Given the description of an element on the screen output the (x, y) to click on. 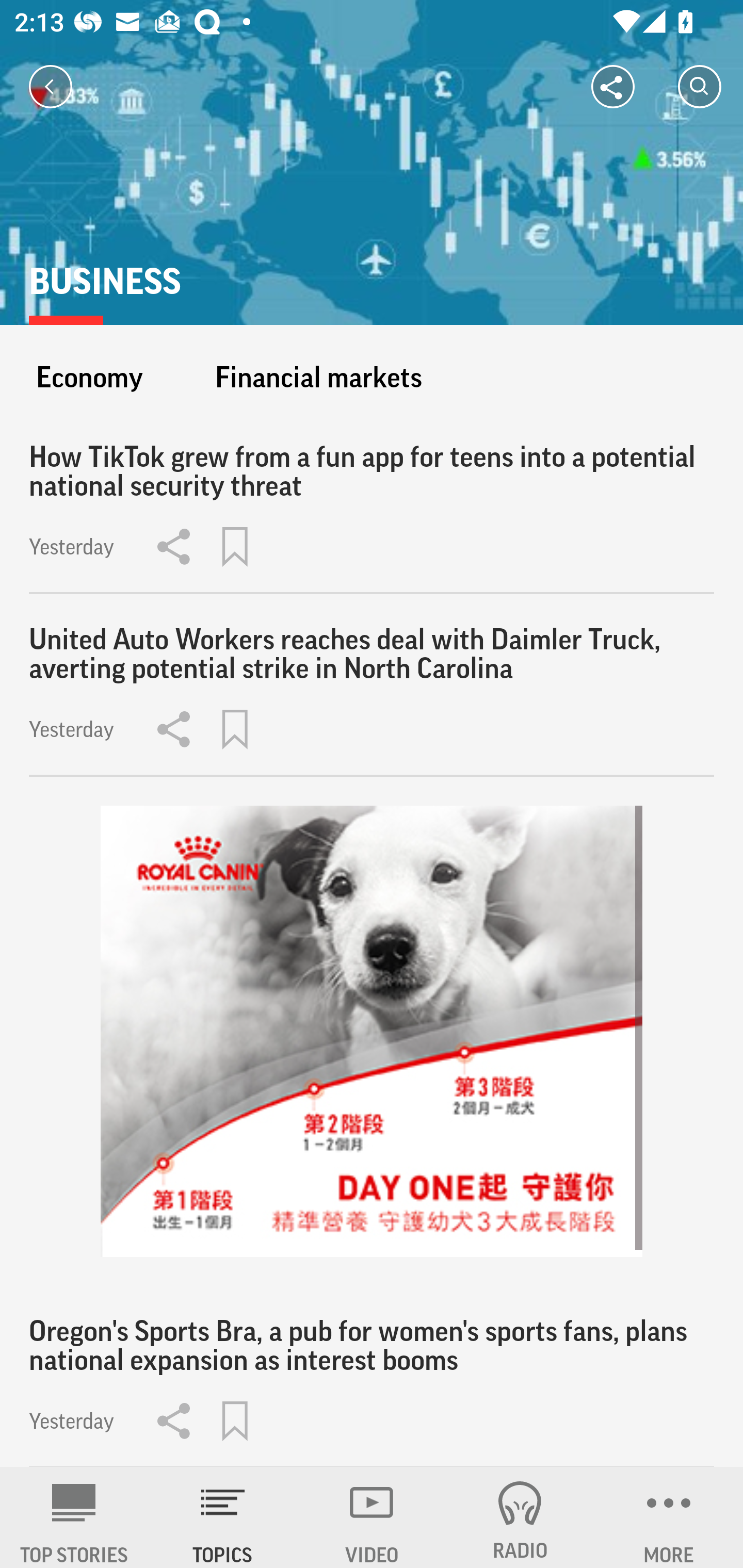
Economy (89, 376)
Financial markets (317, 376)
2ab6p6vl_300x250 (371, 1031)
AP News TOP STORIES (74, 1517)
TOPICS (222, 1517)
VIDEO (371, 1517)
RADIO (519, 1517)
MORE (668, 1517)
